Given the description of an element on the screen output the (x, y) to click on. 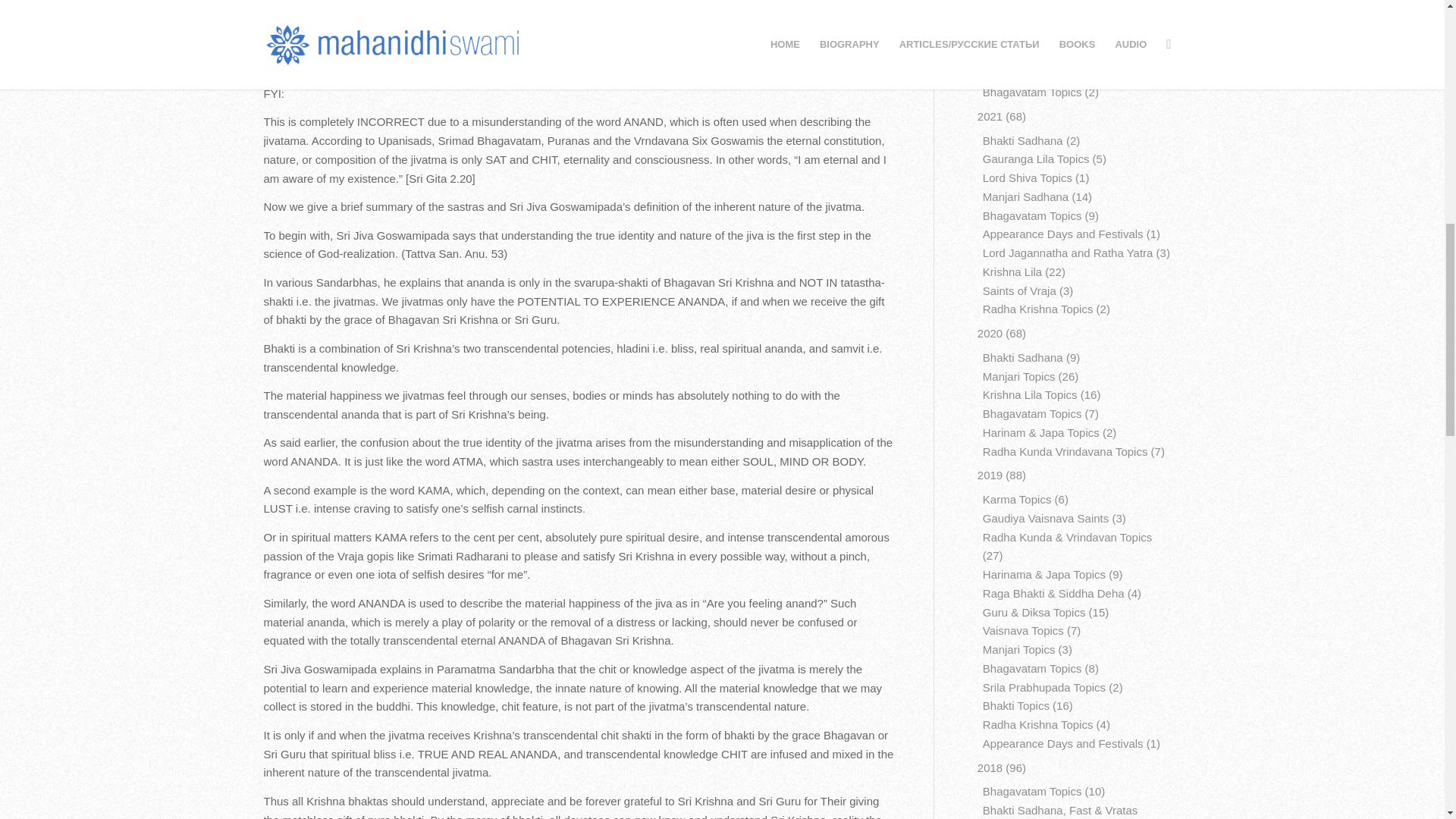
Saints of Vraja (1019, 35)
2021 (989, 115)
Bhagavatam Topics (1031, 91)
Manjari Sadhana (1025, 72)
Bhakti Sadhana (1022, 16)
Krishna LIla (1012, 2)
